Given the description of an element on the screen output the (x, y) to click on. 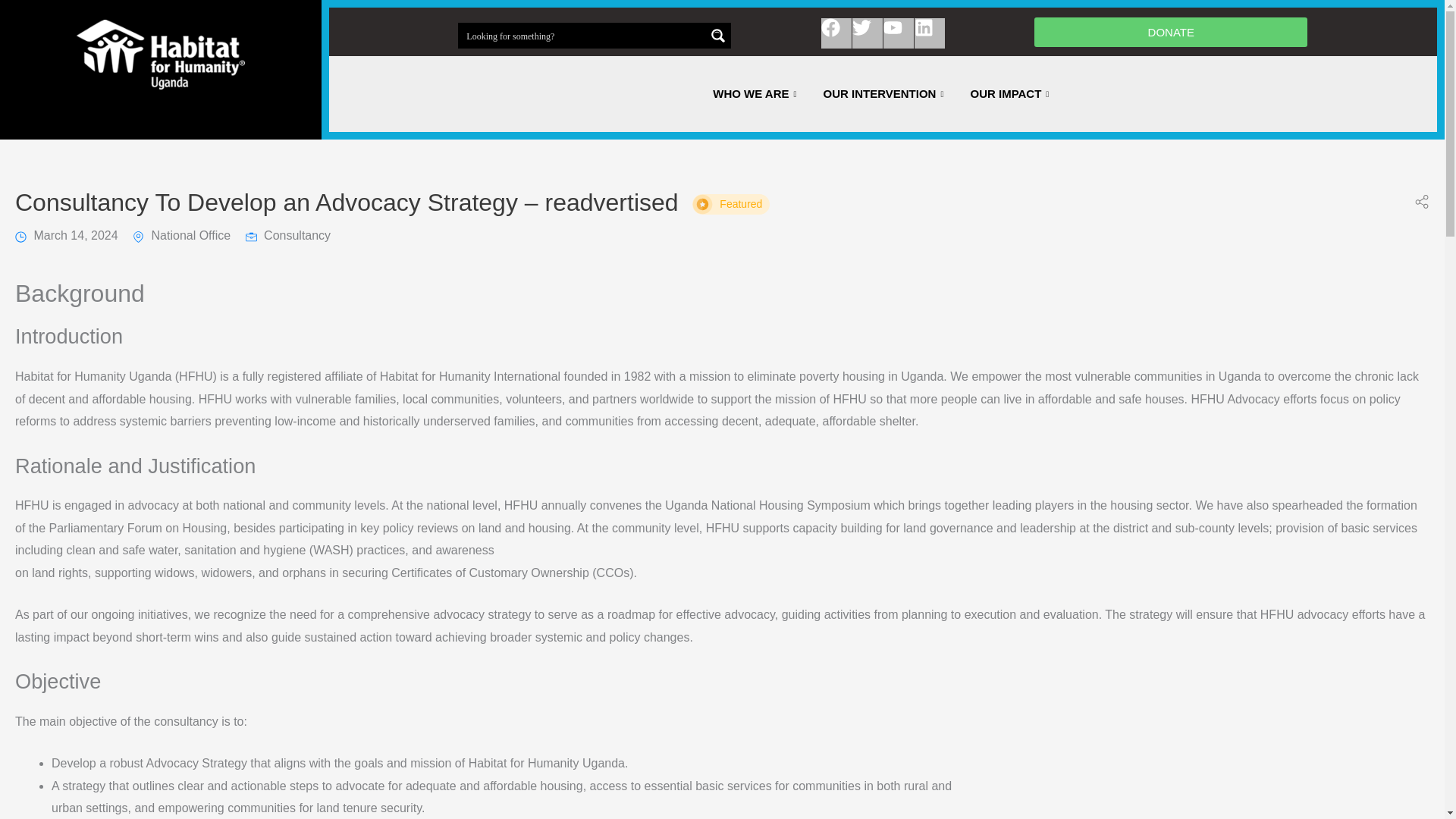
OUR IMPACT (1011, 93)
OUR INTERVENTION (885, 93)
WHO WE ARE (755, 93)
DONATE (1170, 30)
